Given the description of an element on the screen output the (x, y) to click on. 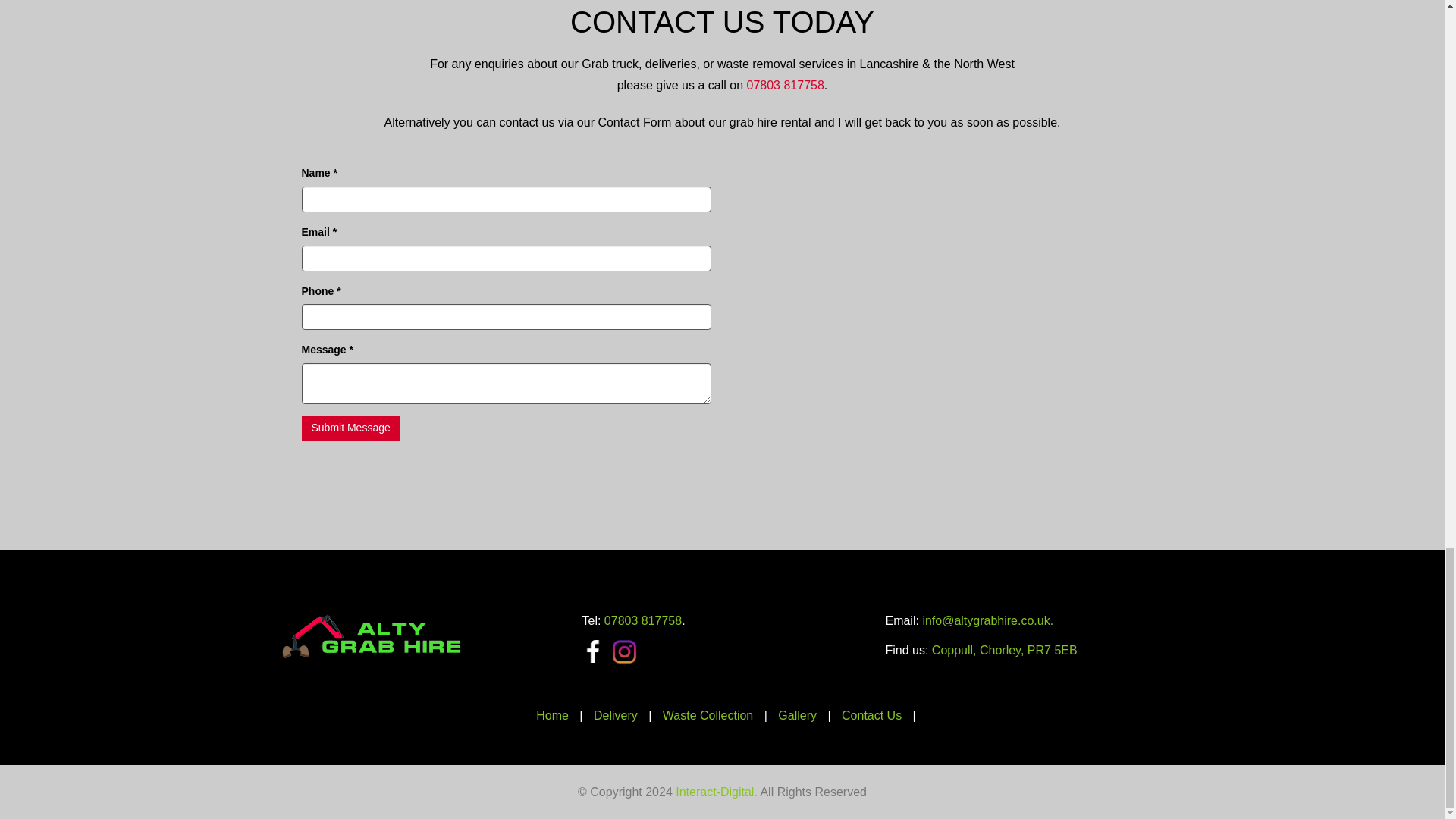
Submit Message (350, 428)
07803 817758 (784, 84)
Home (552, 715)
07803 817758 (642, 620)
Coppull, Chorley, PR7 5EB (1004, 649)
